Given the description of an element on the screen output the (x, y) to click on. 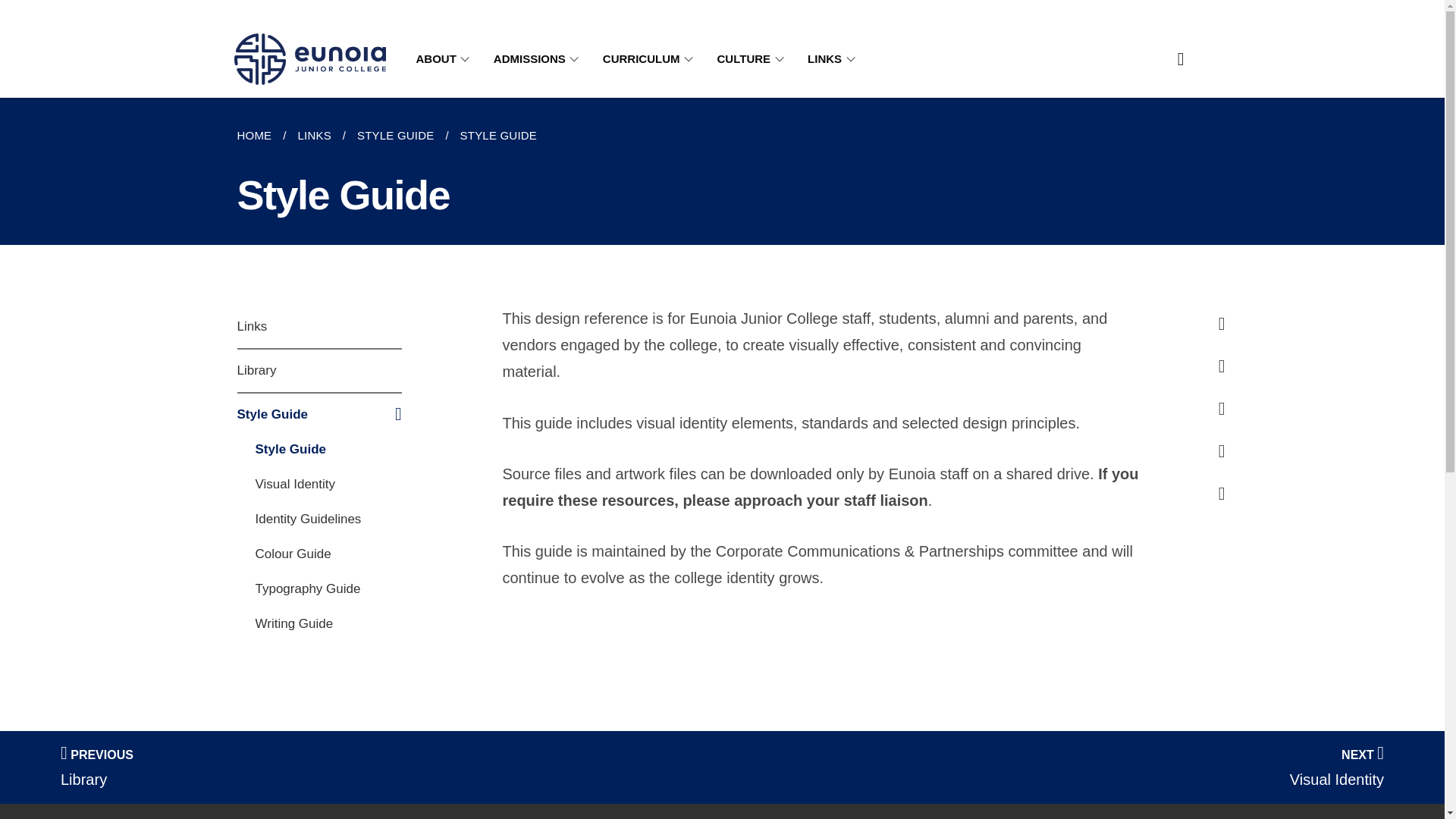
CURRICULUM (650, 59)
CULTURE (753, 59)
ADMISSIONS (539, 59)
